Given the description of an element on the screen output the (x, y) to click on. 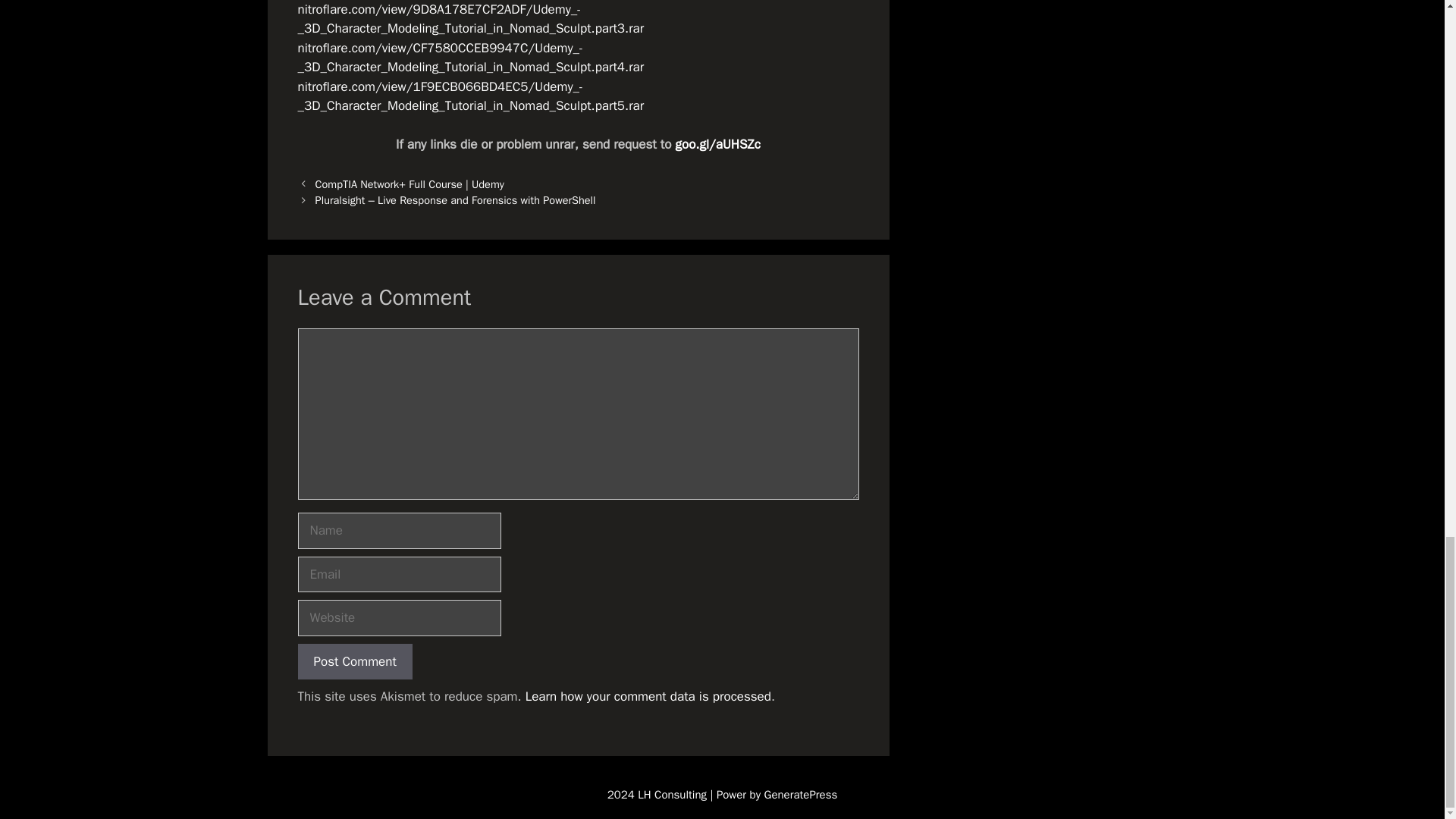
Post Comment (354, 661)
Post Comment (354, 661)
Learn how your comment data is processed (648, 696)
